Given the description of an element on the screen output the (x, y) to click on. 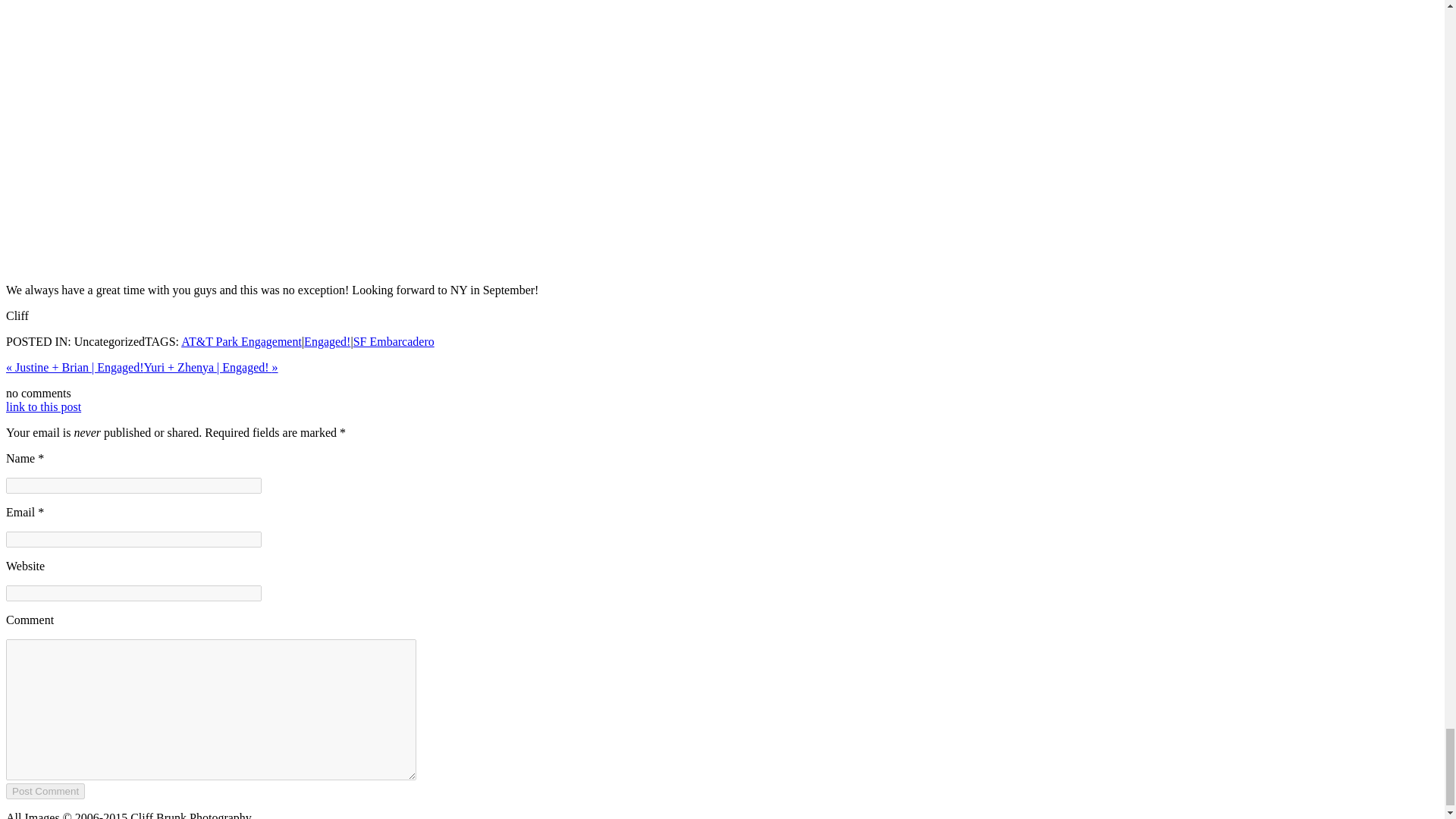
SF Embarcadero (393, 341)
Post Comment (44, 790)
Engaged! (327, 341)
Post Comment (44, 790)
no comments (38, 392)
link to this post (43, 406)
